Given the description of an element on the screen output the (x, y) to click on. 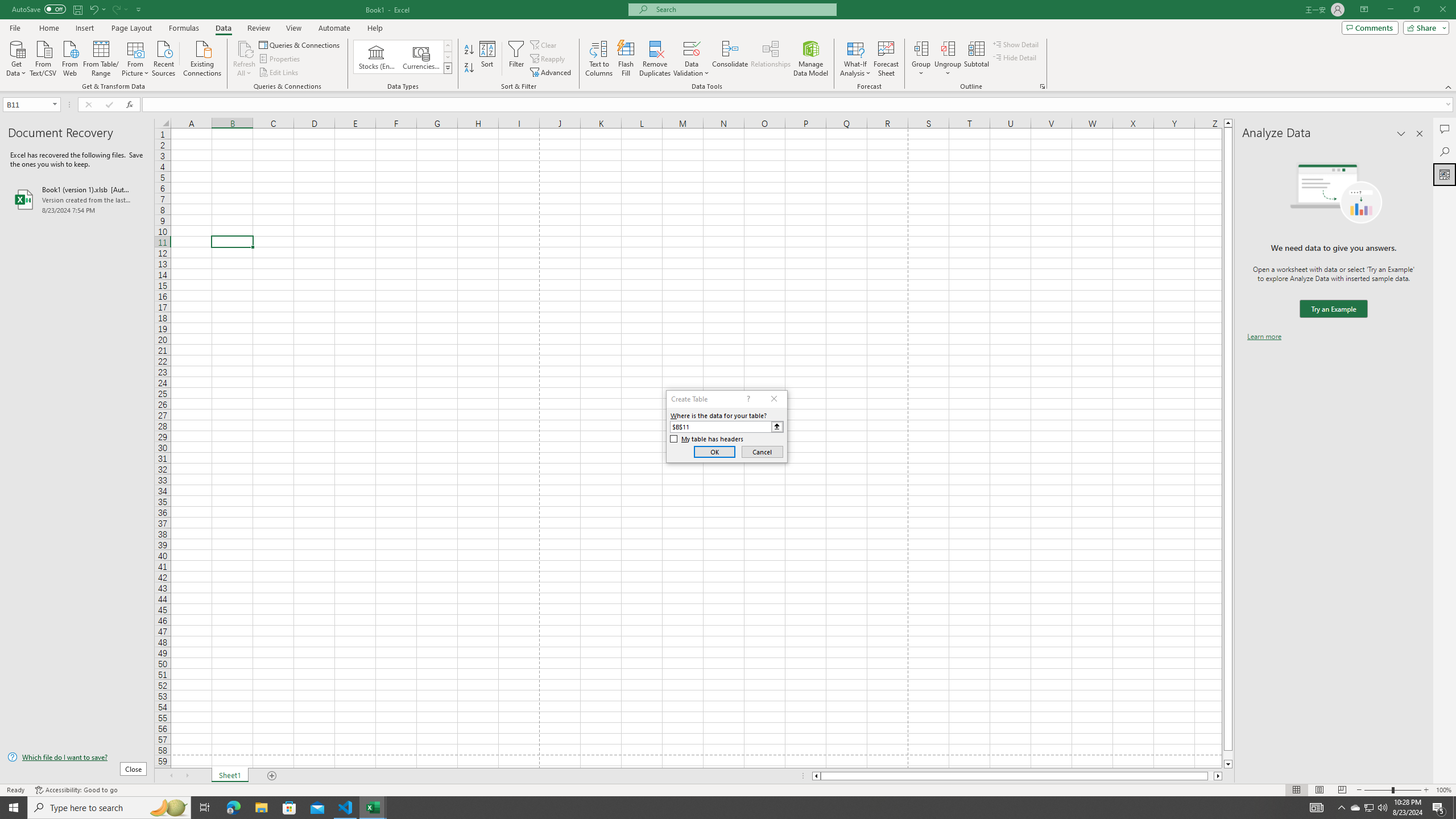
Consolidate... (729, 58)
Hide Detail (1014, 56)
Learn more (1264, 336)
